Given the description of an element on the screen output the (x, y) to click on. 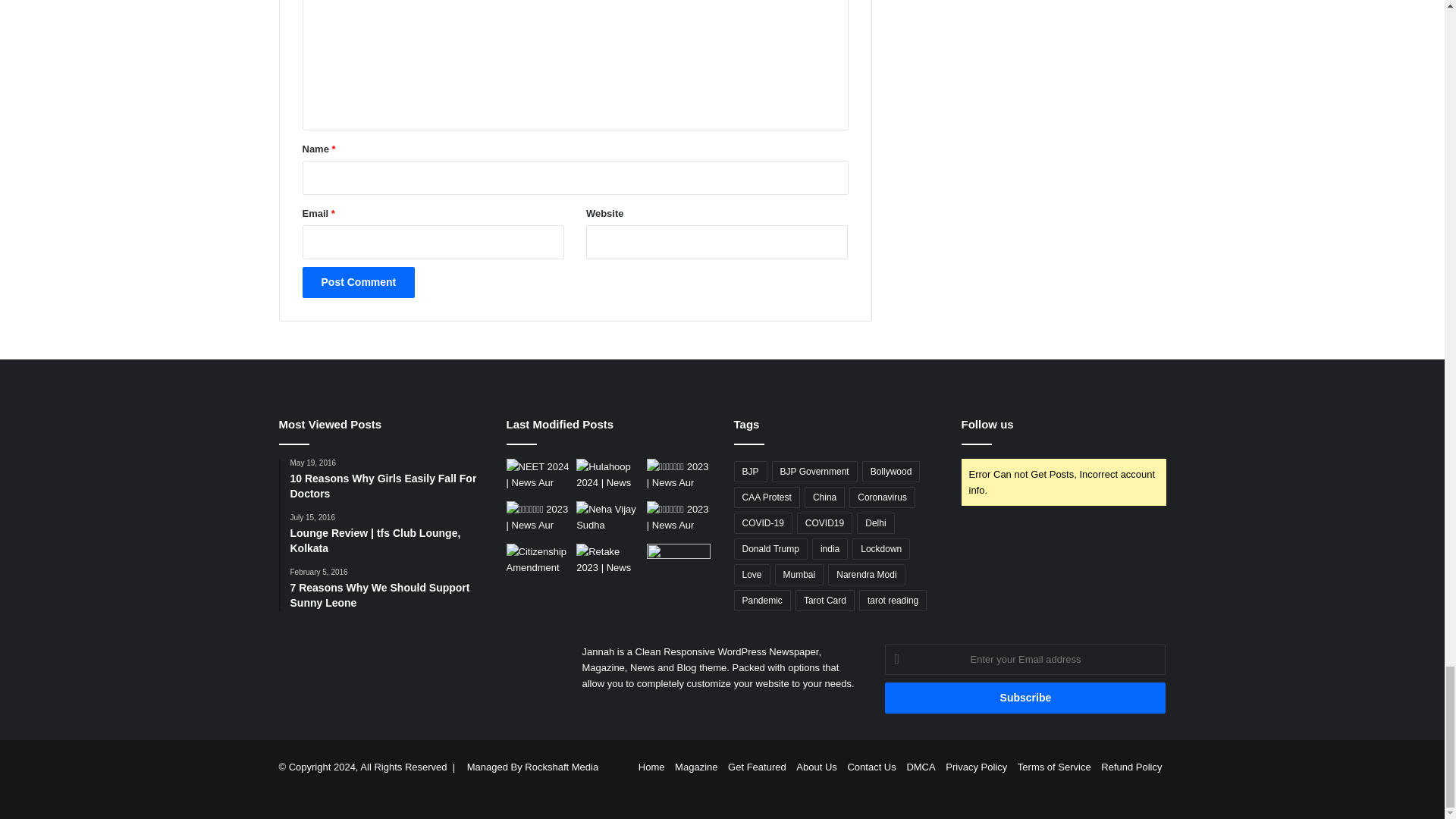
Subscribe (1025, 697)
Post Comment (357, 282)
